Given the description of an element on the screen output the (x, y) to click on. 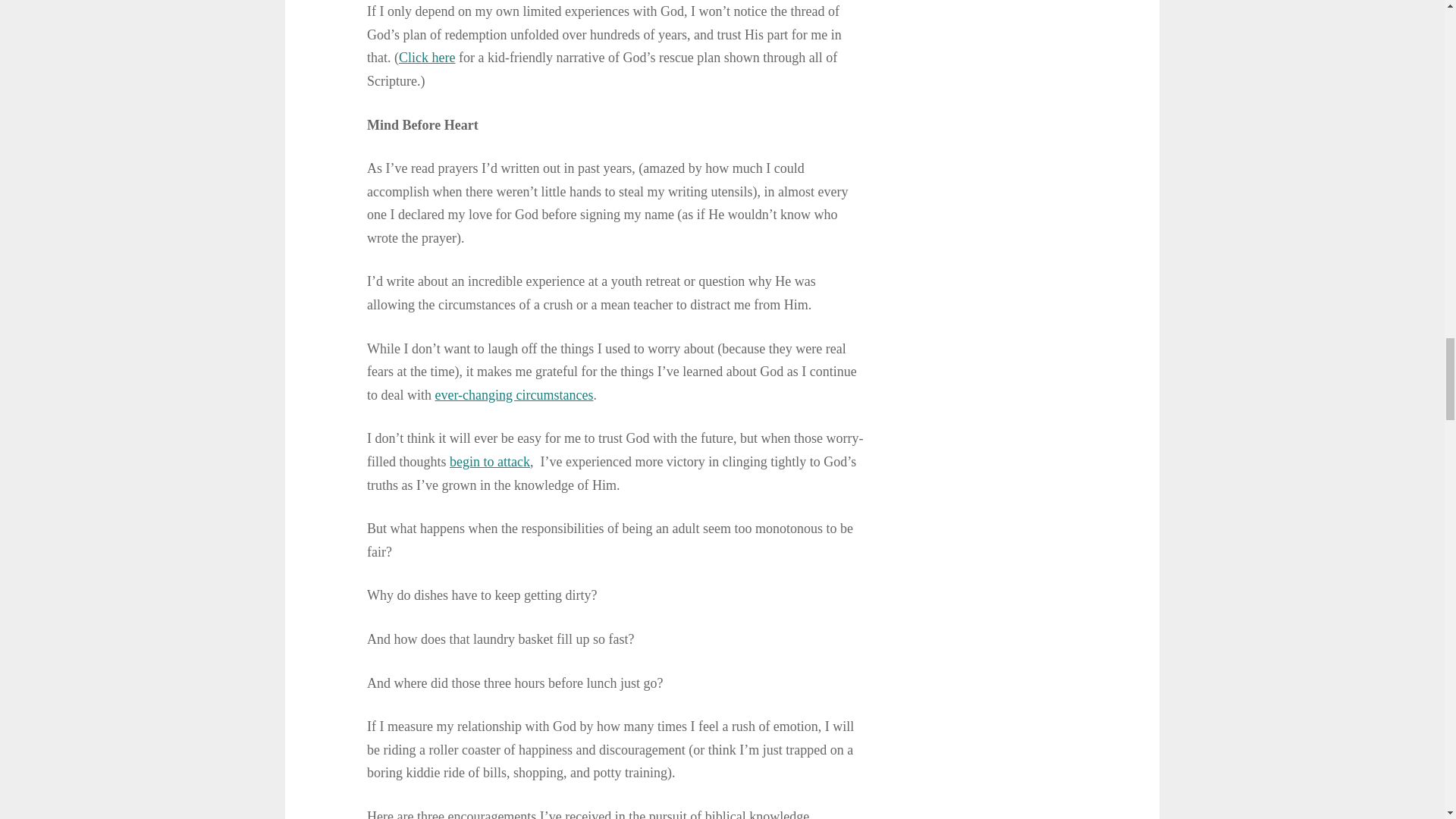
begin to attack (489, 461)
ever-changing circumstances (512, 394)
Click here (426, 57)
